Given the description of an element on the screen output the (x, y) to click on. 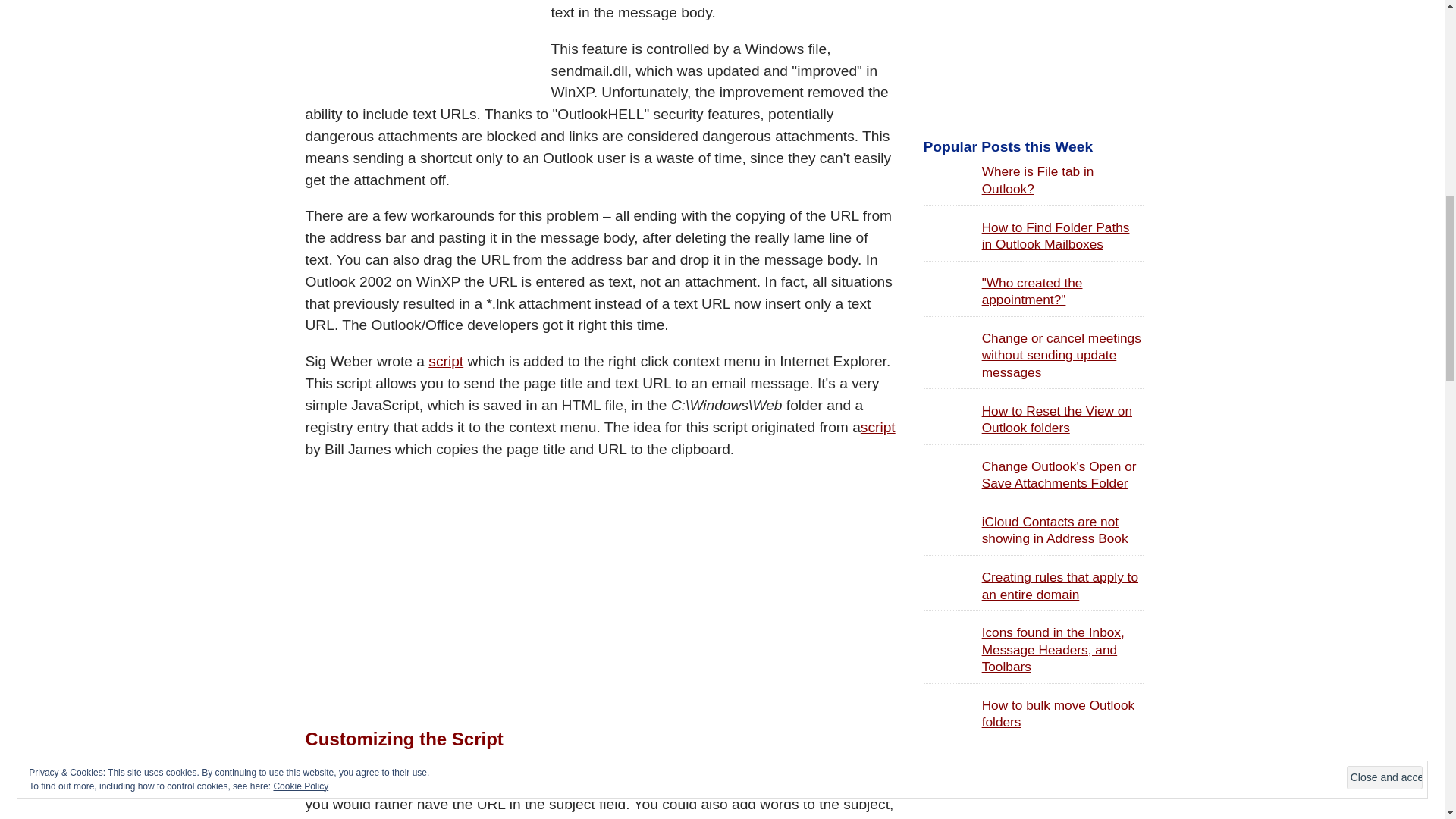
script (445, 360)
Copy title and URL to clipboard script (877, 426)
script (877, 426)
Mailto URL Script for WinXP (445, 360)
